Given the description of an element on the screen output the (x, y) to click on. 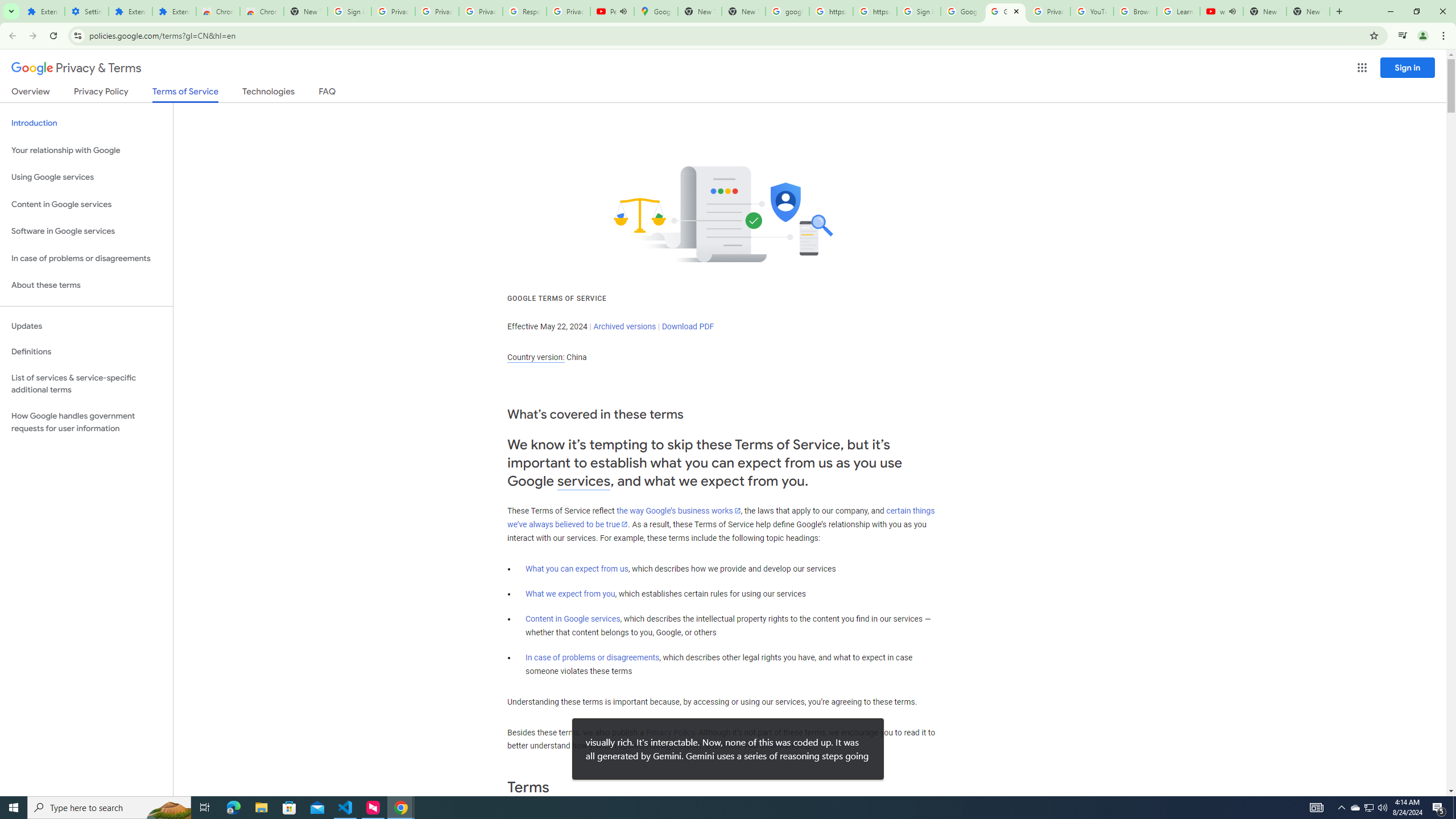
New Tab (305, 11)
Software in Google services (86, 230)
What we expect from you (570, 593)
Sign in - Google Accounts (918, 11)
Content in Google services (572, 618)
Chrome Web Store (217, 11)
Extensions (130, 11)
Browse Chrome as a guest - Computer - Google Chrome Help (1134, 11)
Using Google services (86, 176)
